Given the description of an element on the screen output the (x, y) to click on. 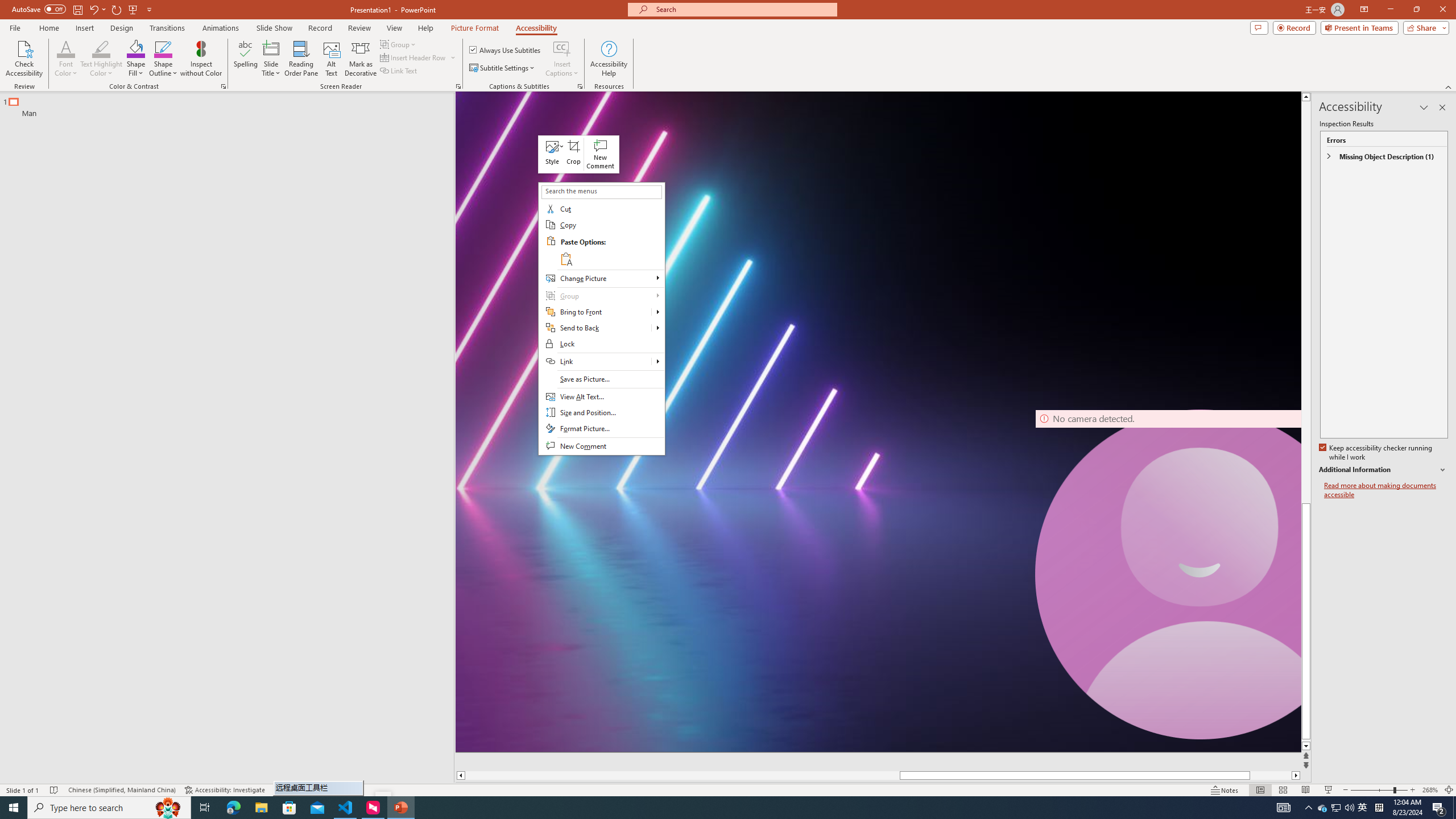
Zoom 268% (1430, 790)
Bring to Front (657, 312)
Change Picture (600, 278)
Save as Picture... (600, 379)
Bring to Front (600, 312)
